Given the description of an element on the screen output the (x, y) to click on. 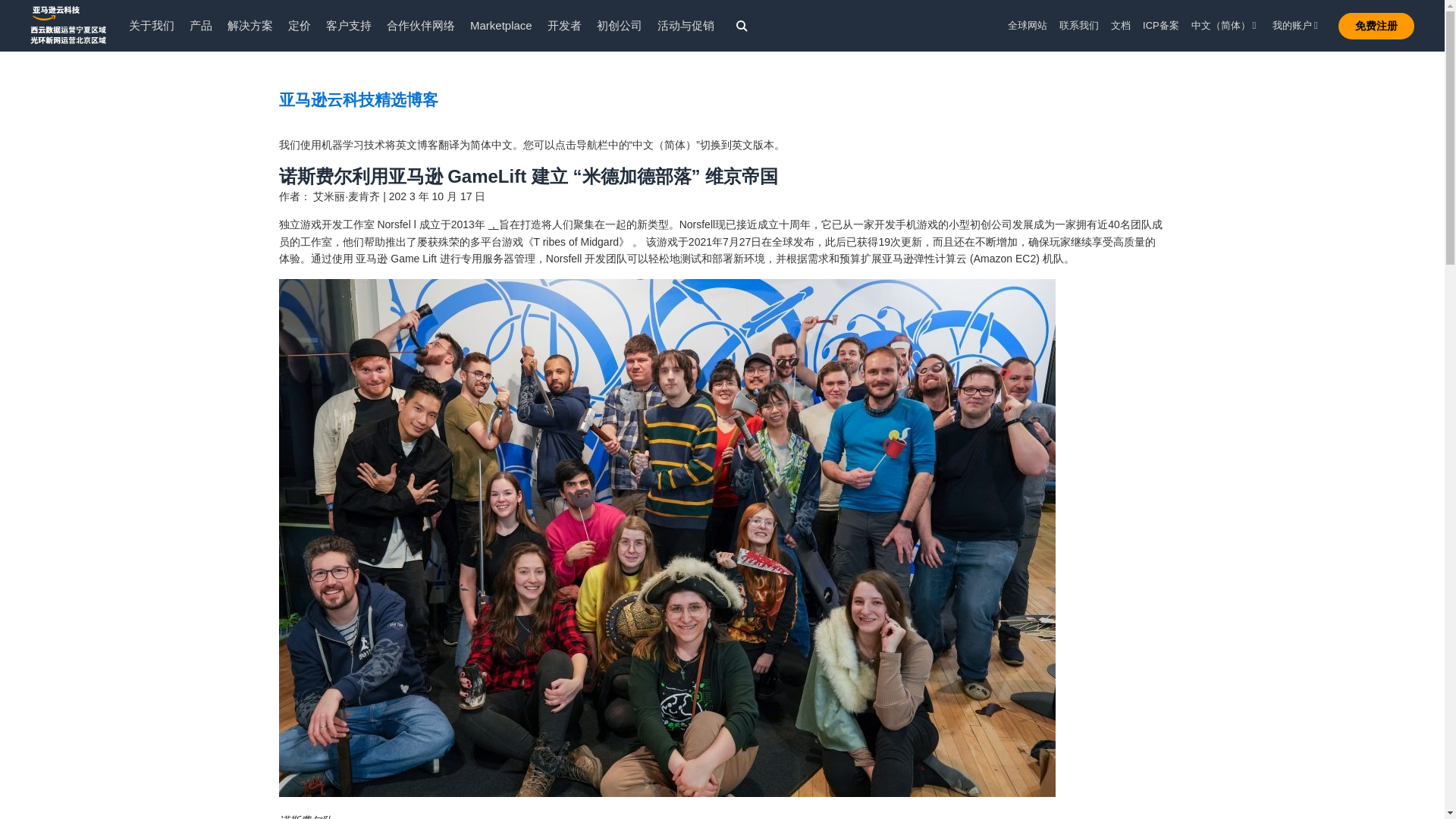
Marketplace (501, 24)
